Given the description of an element on the screen output the (x, y) to click on. 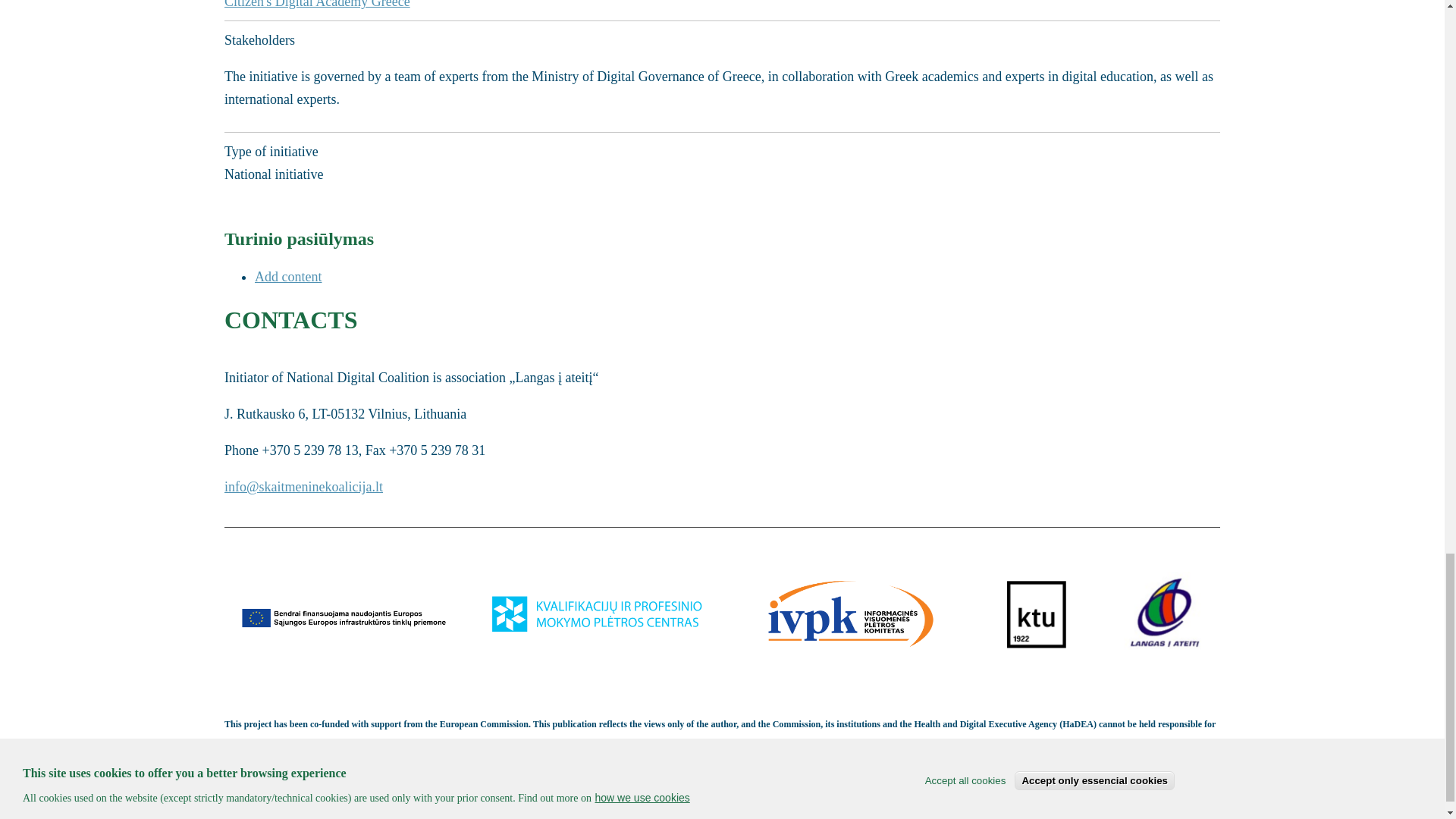
Add content (287, 276)
Citizen's Digital Academy Greece (320, 4)
